Given the description of an element on the screen output the (x, y) to click on. 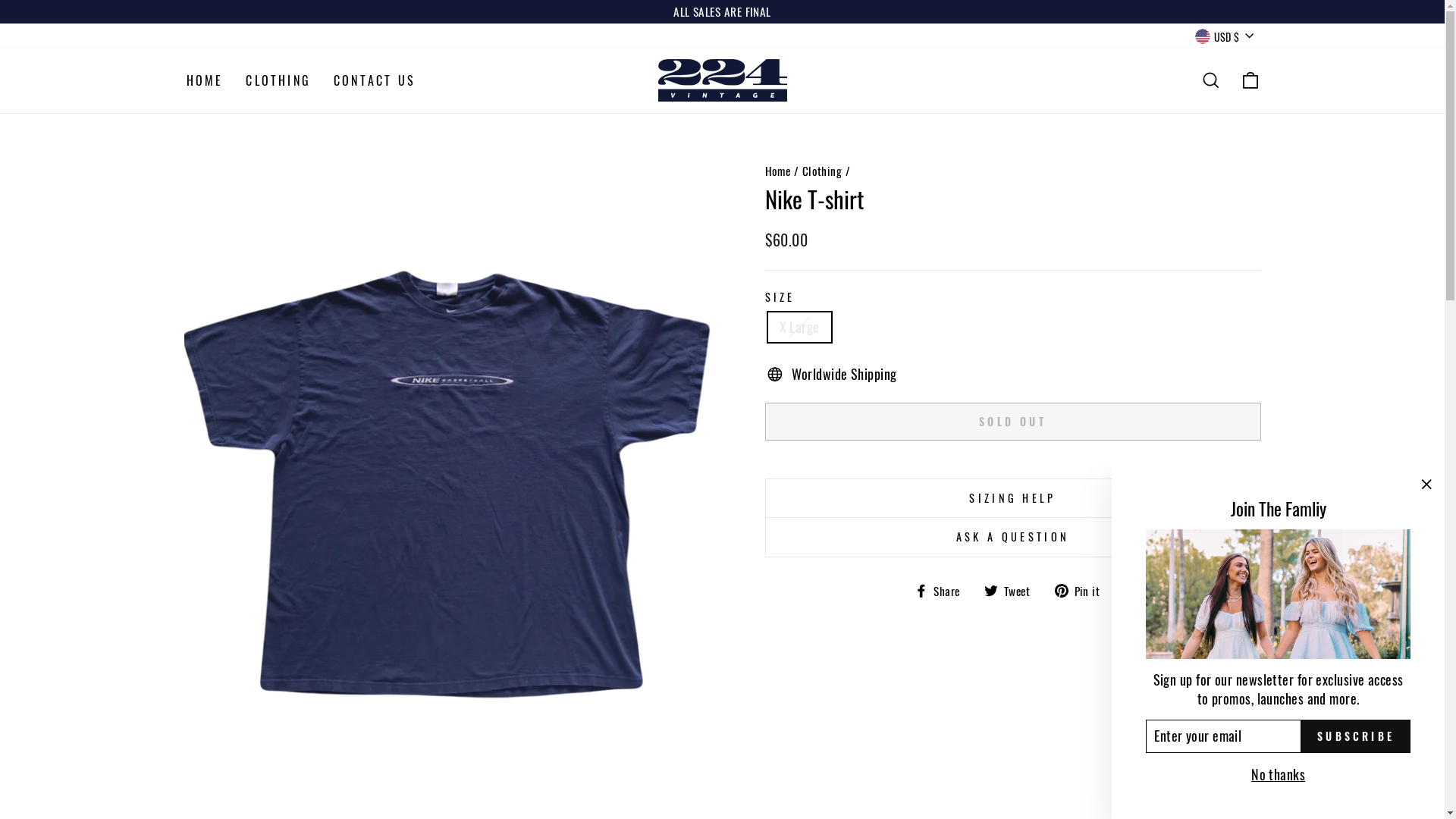
SUBSCRIBE Element type: text (1355, 736)
CART Element type: text (1249, 80)
HOME Element type: text (204, 80)
SEARCH Element type: text (1210, 80)
Tweet
Tweet on Twitter Element type: text (1012, 589)
Skip to content Element type: text (0, 0)
SOLD OUT Element type: text (1012, 421)
"Close (esc)" Element type: text (1426, 483)
Share
Share on Facebook Element type: text (942, 589)
ASK A QUESTION Element type: text (1012, 536)
No thanks Element type: text (1277, 774)
USD $ Element type: text (1223, 35)
CLOTHING Element type: text (278, 80)
Pin it
Pin on Pinterest Element type: text (1082, 589)
Clothing Element type: text (822, 170)
SIZING HELP Element type: text (1012, 497)
CONTACT US Element type: text (374, 80)
Home Element type: text (777, 170)
